Given the description of an element on the screen output the (x, y) to click on. 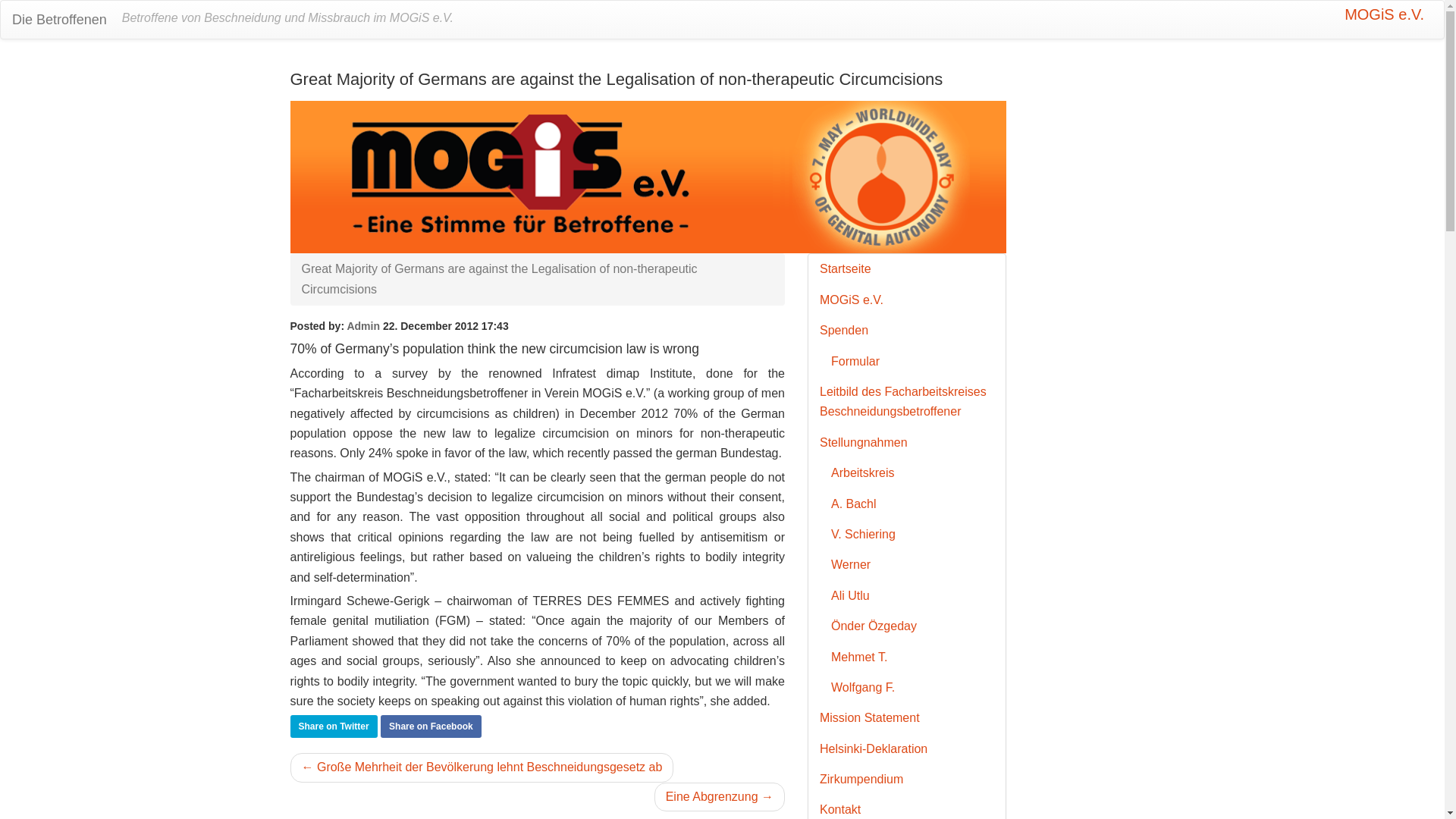
Startseite (907, 268)
MOGiS e.V. (1383, 13)
Helsinki-Deklaration (907, 748)
Mission Statement (907, 717)
MOGiS e.V. (907, 300)
Zirkumpendium (907, 779)
Wolfgang F. (912, 687)
Share on Twitter (333, 725)
Mehmet T. (912, 657)
Spenden (907, 330)
